Given the description of an element on the screen output the (x, y) to click on. 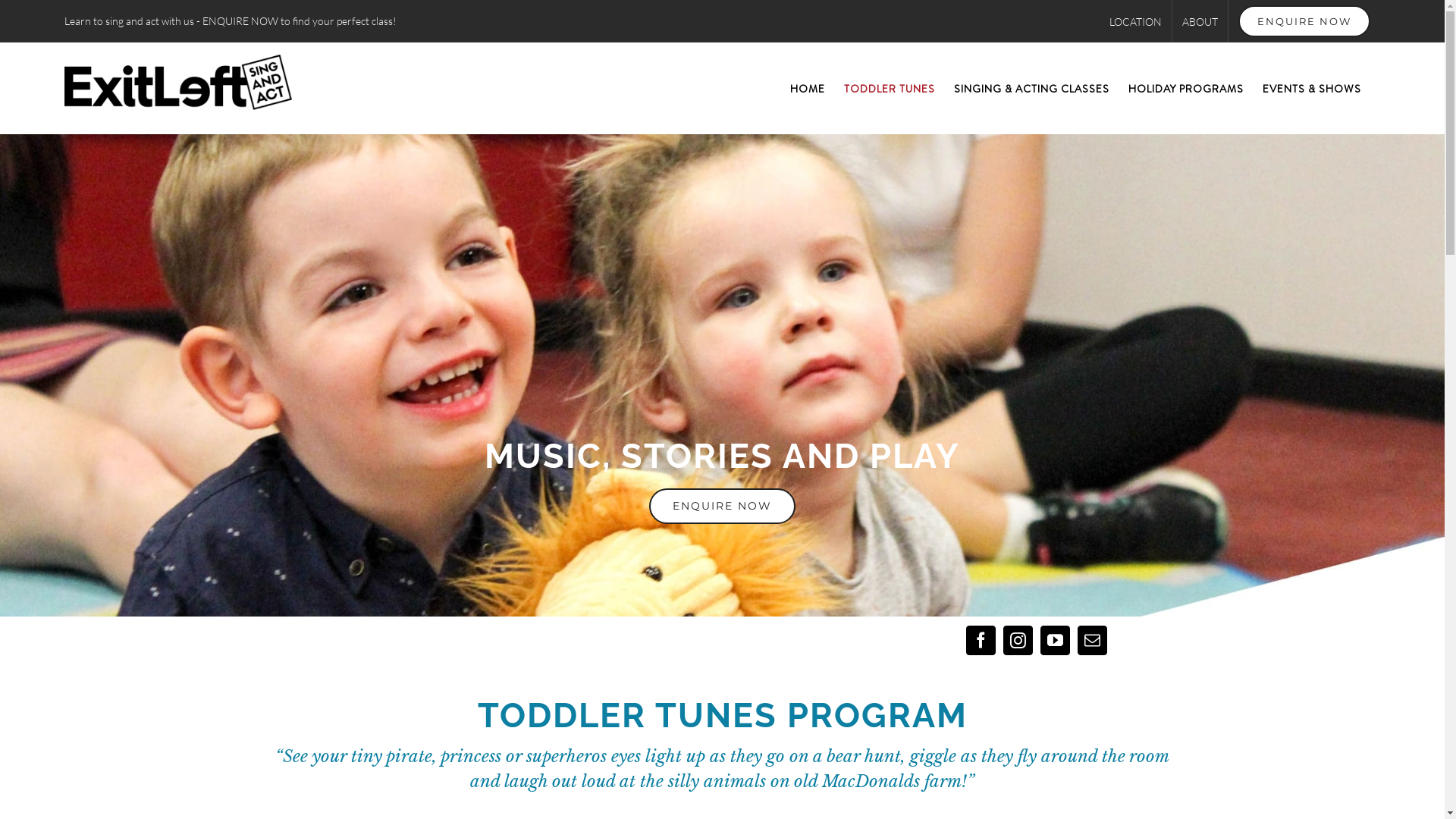
HOME Element type: text (807, 88)
TODDLER TUNES Element type: text (889, 88)
SINGING & ACTING CLASSES Element type: text (1031, 88)
EVENTS & SHOWS Element type: text (1311, 88)
ABOUT Element type: text (1199, 21)
ENQUIRE NOW Element type: text (722, 506)
ENQUIRE NOW Element type: text (1304, 21)
HOLIDAY PROGRAMS Element type: text (1185, 88)
LOCATION Element type: text (1135, 21)
